Given the description of an element on the screen output the (x, y) to click on. 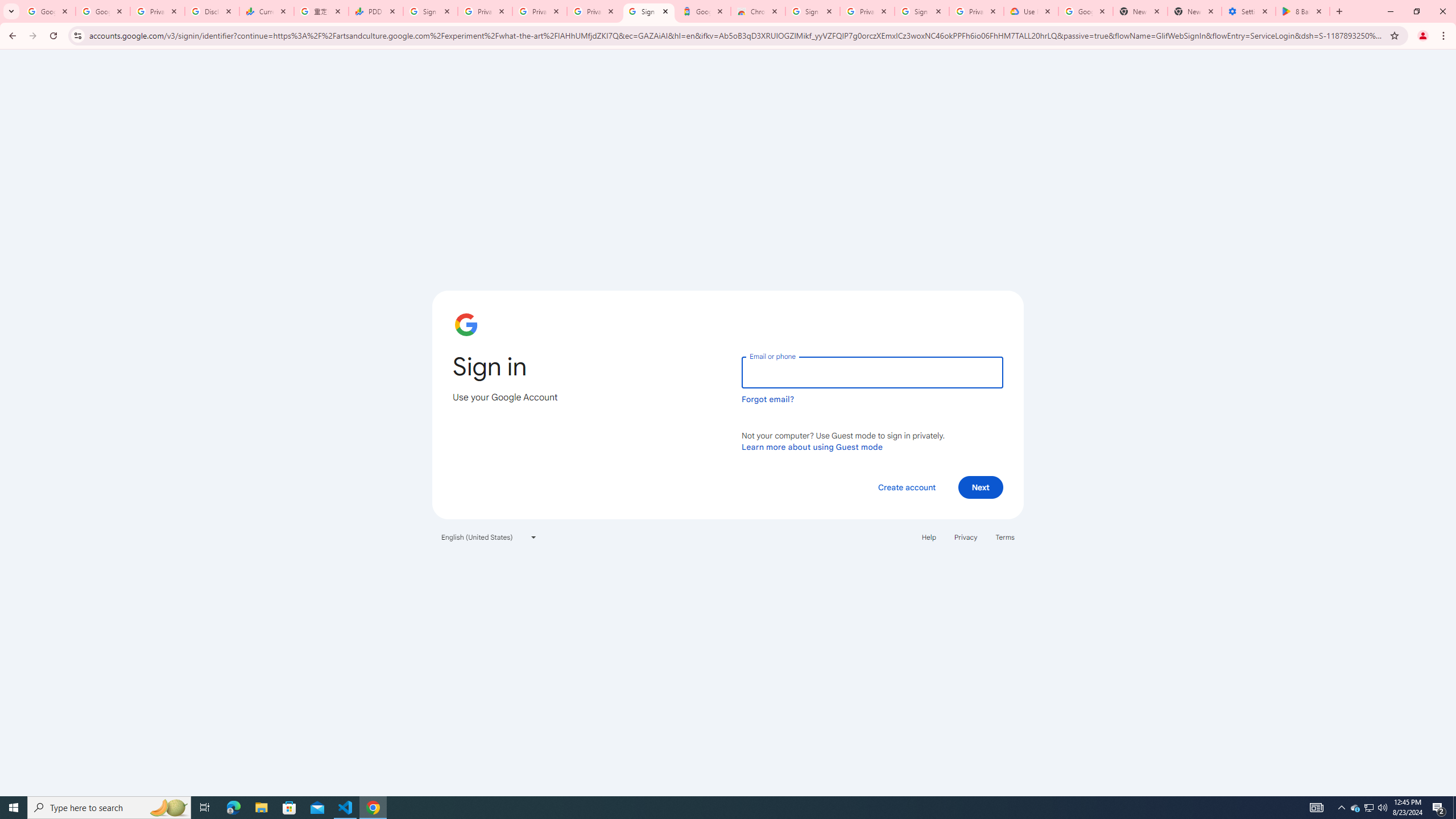
8 Ball Pool - Apps on Google Play (1303, 11)
Chrome Web Store - Color themes by Chrome (757, 11)
Email or phone (871, 372)
Create account (905, 486)
New Tab (1194, 11)
Forgot email? (767, 398)
Sign in - Google Accounts (430, 11)
Settings - System (1249, 11)
English (United States) (489, 536)
